Given the description of an element on the screen output the (x, y) to click on. 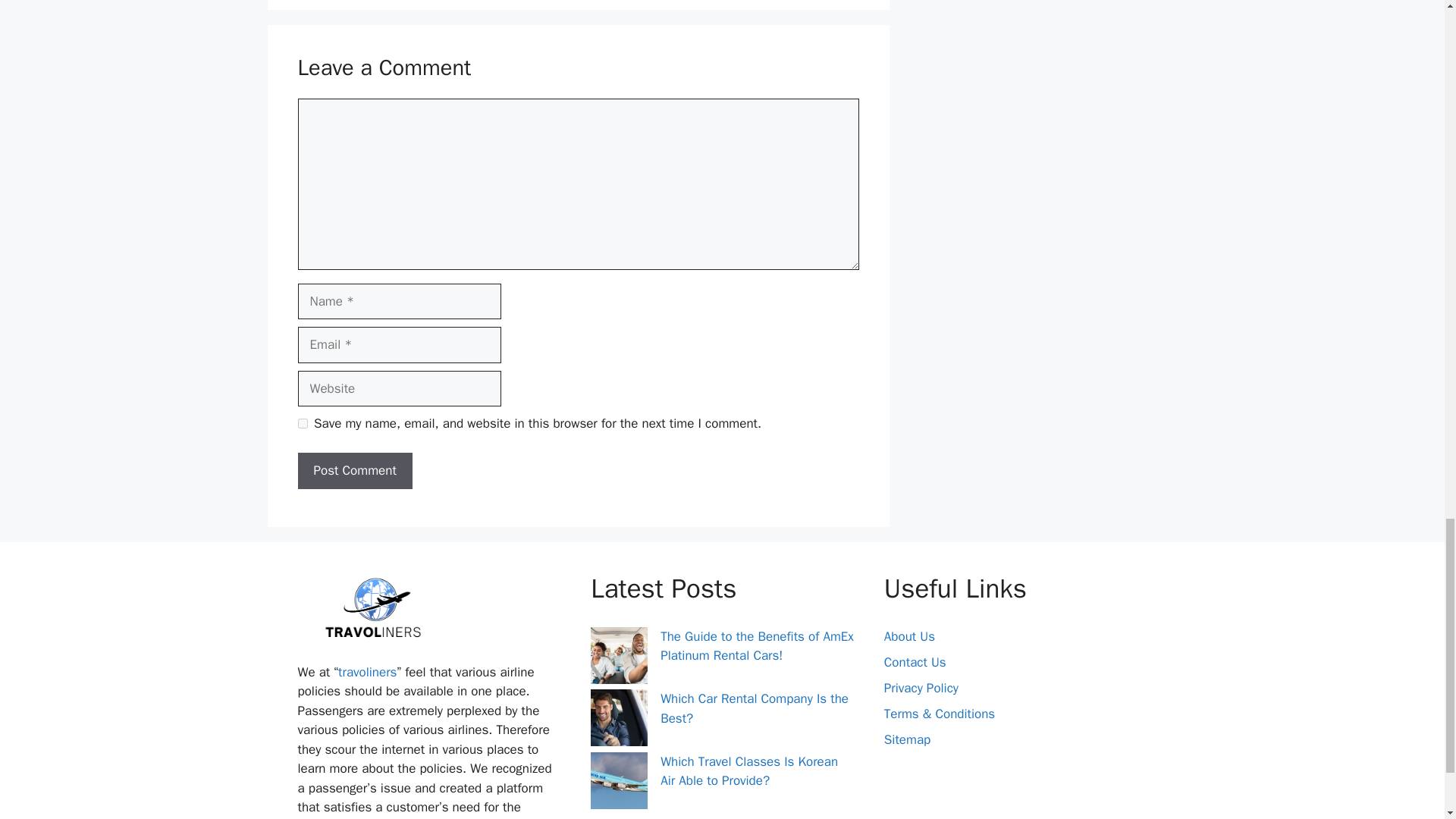
travoliners (366, 672)
Post Comment (354, 470)
Which Travel Classes Is Korean Air Able to Provide? (749, 771)
Privacy Policy (920, 688)
About Us (908, 636)
Post Comment (354, 470)
Sitemap (906, 739)
Contact Us (914, 662)
yes (302, 423)
Which Car Rental Company Is the Best? (754, 708)
The Guide to the Benefits of AmEx Platinum Rental Cars! (757, 646)
